Given the description of an element on the screen output the (x, y) to click on. 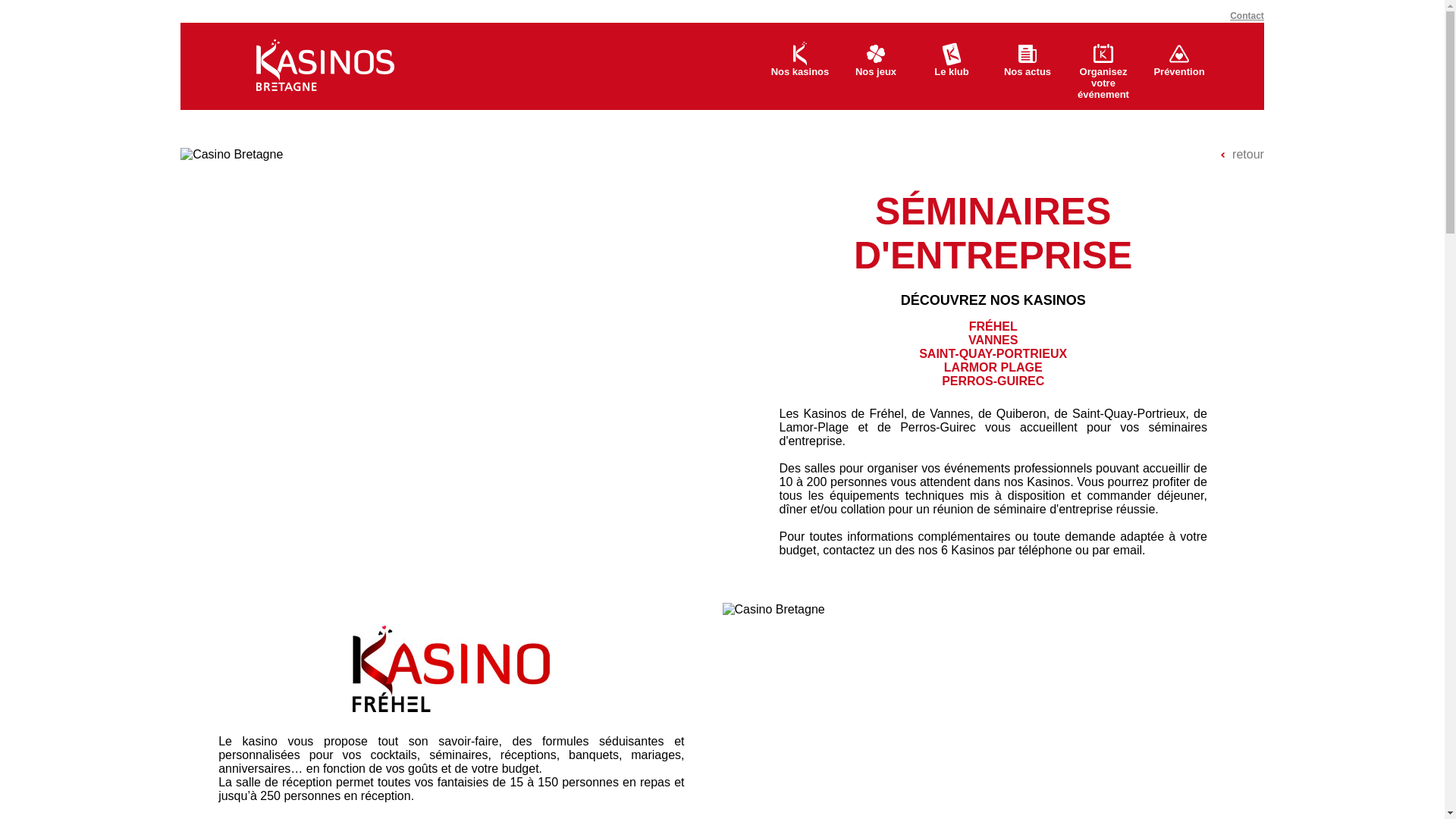
Nos kasinos Element type: text (799, 65)
Nos actus Element type: text (1027, 65)
Le klub Element type: text (951, 65)
retour Element type: text (1242, 154)
Nos jeux Element type: text (875, 65)
Contact Element type: text (1247, 15)
